Given the description of an element on the screen output the (x, y) to click on. 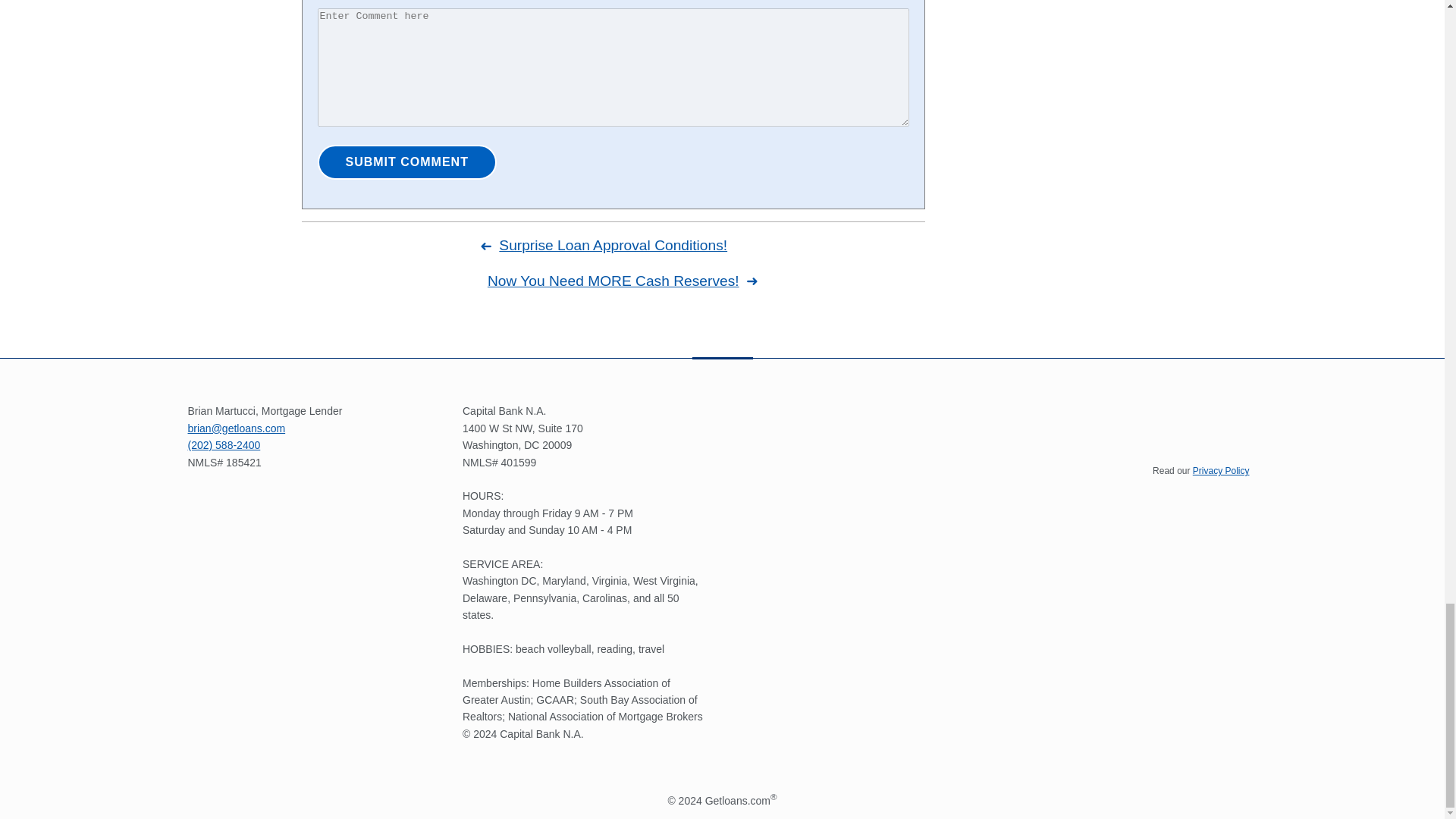
Submit Comment (406, 161)
